Given the description of an element on the screen output the (x, y) to click on. 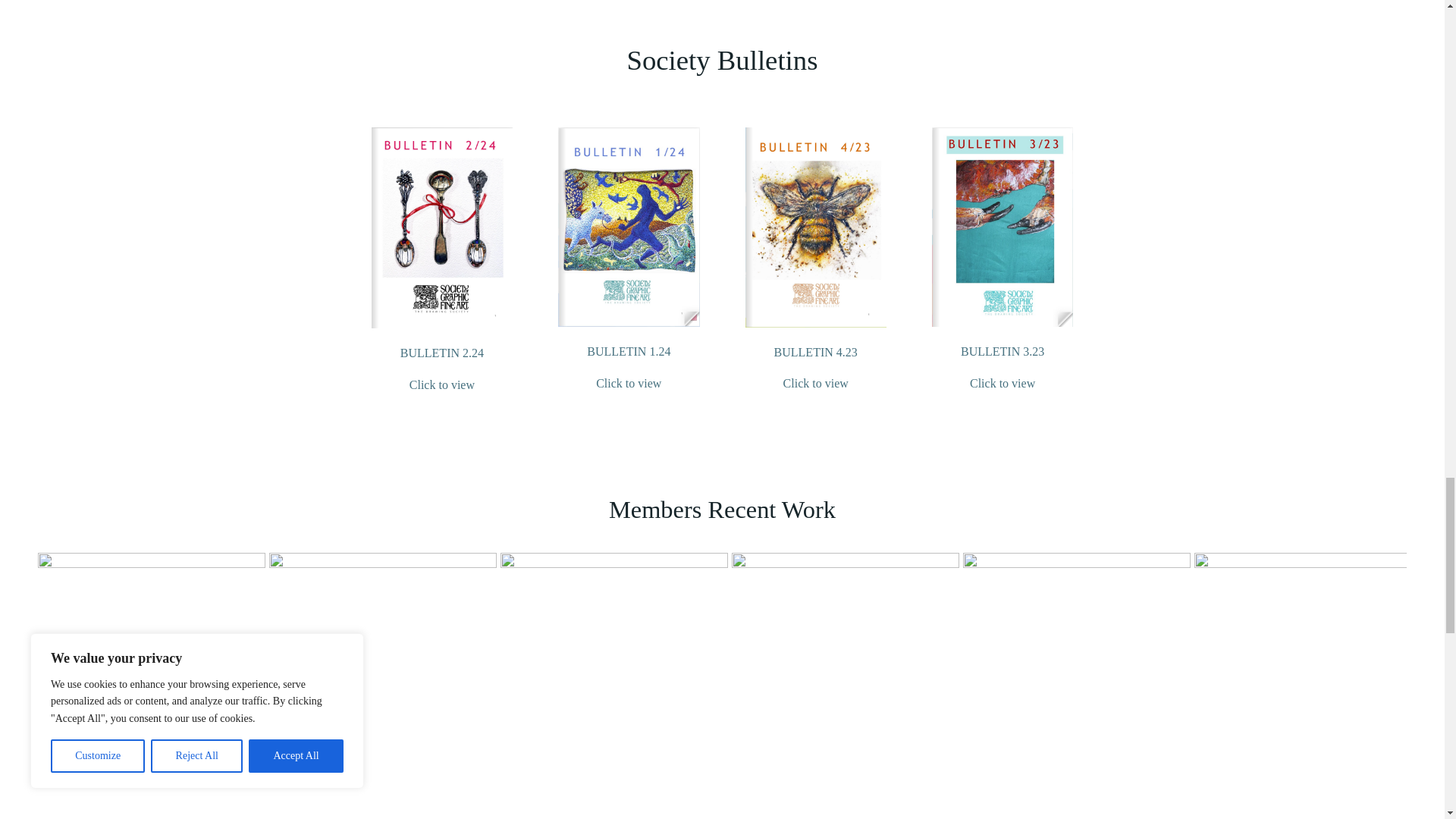
Stuart Stanley 	Charleston Garden (1307, 666)
Les Williams PSGFA	Trafalgar Square (150, 666)
Susan Poole VPSGFA UKCPS	The Reader (382, 666)
Vincent Matthews VPSGFA	The Blue Boat (845, 666)
Lynda Clark VPSGFA, Hon Sec SGFA 6 Generations of Buttons (614, 666)
Harriet Brigdale VPSGFA	25 years of letters from my father (1076, 666)
